Given the description of an element on the screen output the (x, y) to click on. 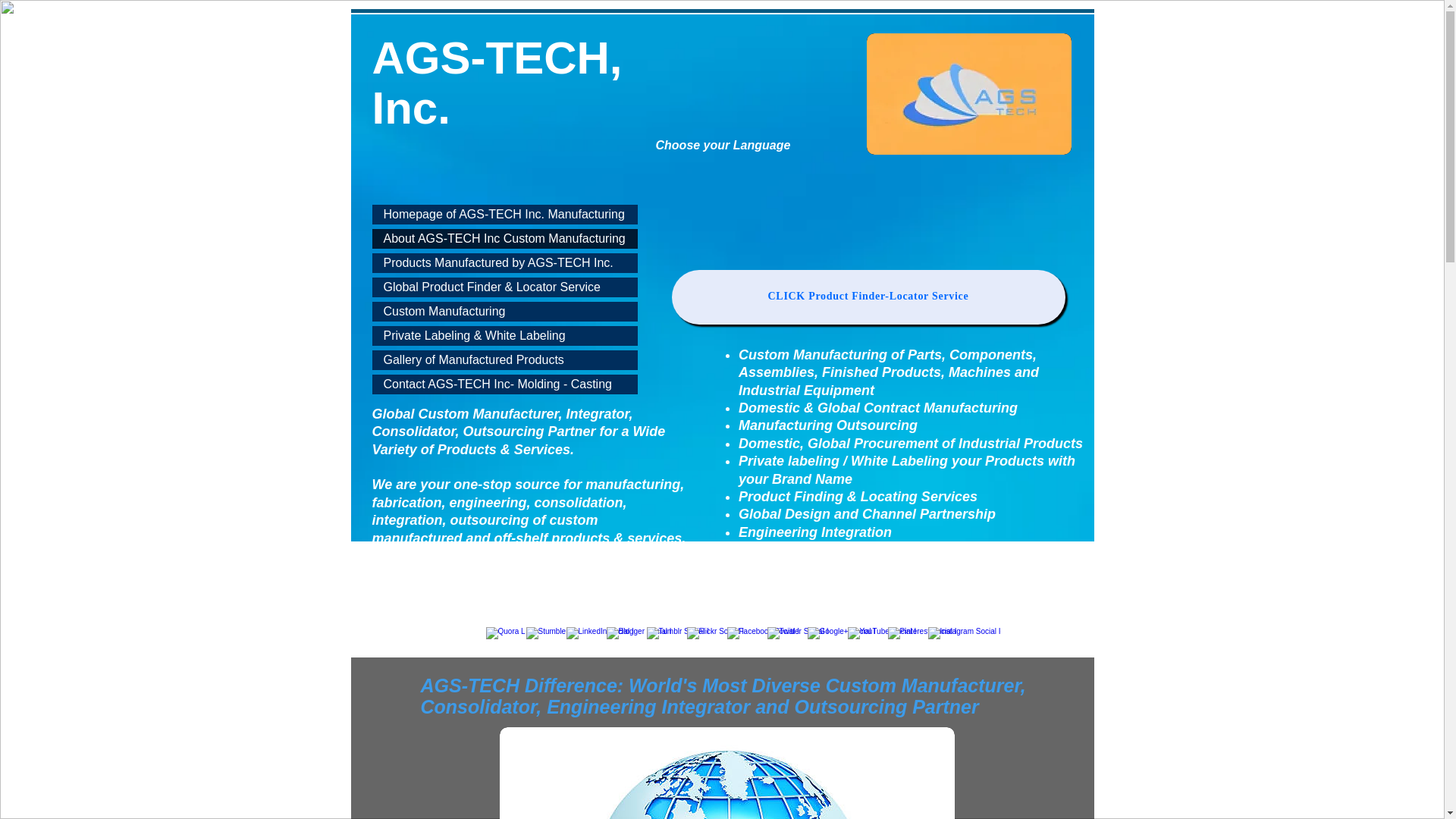
Custom Manufacturing (504, 311)
AGS-TECH, Inc. (496, 82)
Products Manufactured by AGS-TECH Inc. (504, 262)
AGS-TECH Logo (968, 93)
Facebook Like (975, 236)
About AGS-TECH Inc Custom Manufacturing (504, 238)
Homepage of AGS-TECH Inc. Manufacturing (504, 214)
